Given the description of an element on the screen output the (x, y) to click on. 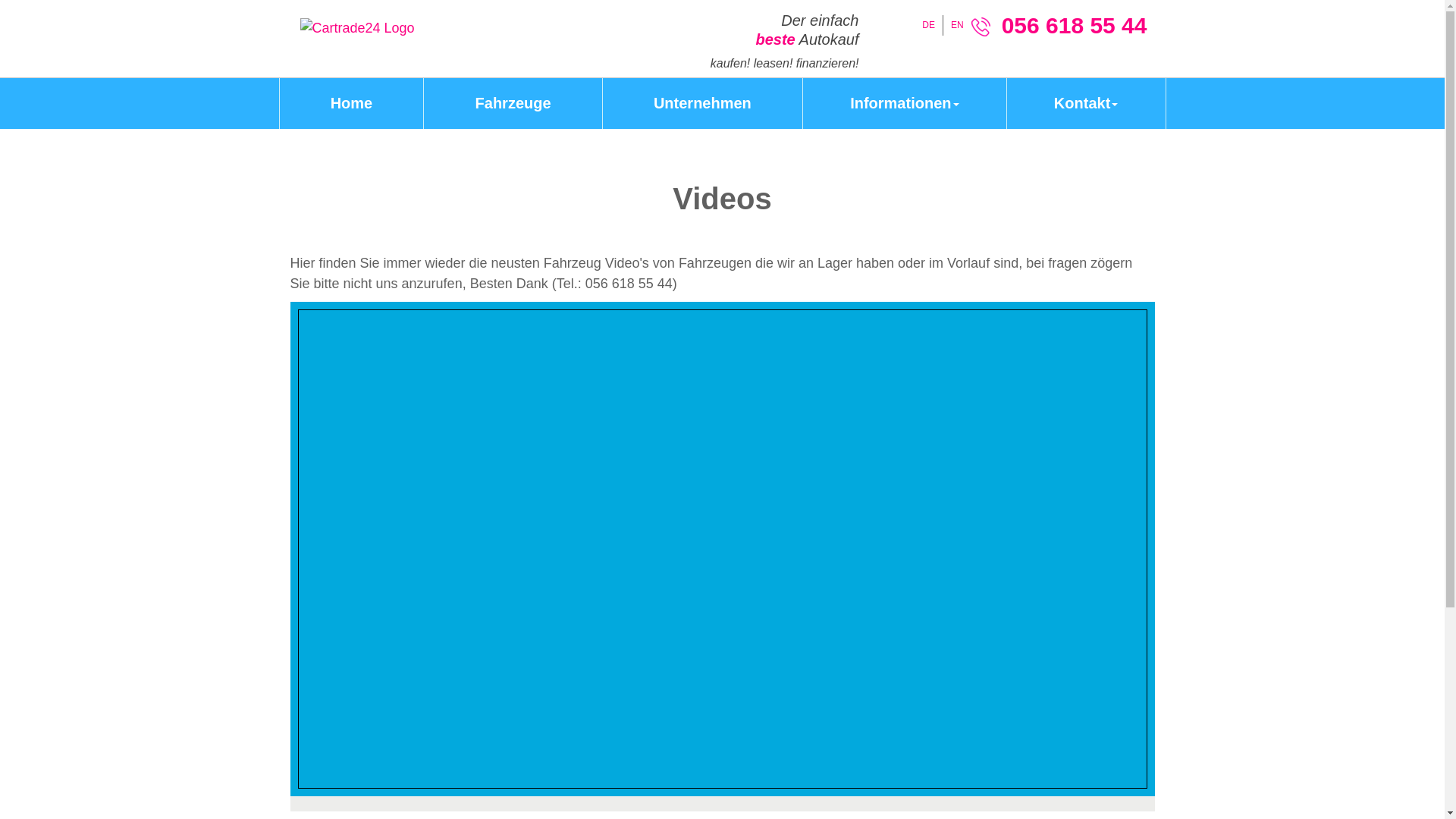
Kontakt Element type: text (1086, 103)
056 618 55 44 Element type: text (1074, 24)
Informationen Element type: text (904, 103)
Fahrzeuge Element type: text (512, 103)
Home Element type: text (351, 103)
EN Element type: text (956, 24)
Unternehmen Element type: text (702, 103)
DE Element type: text (928, 24)
